Given the description of an element on the screen output the (x, y) to click on. 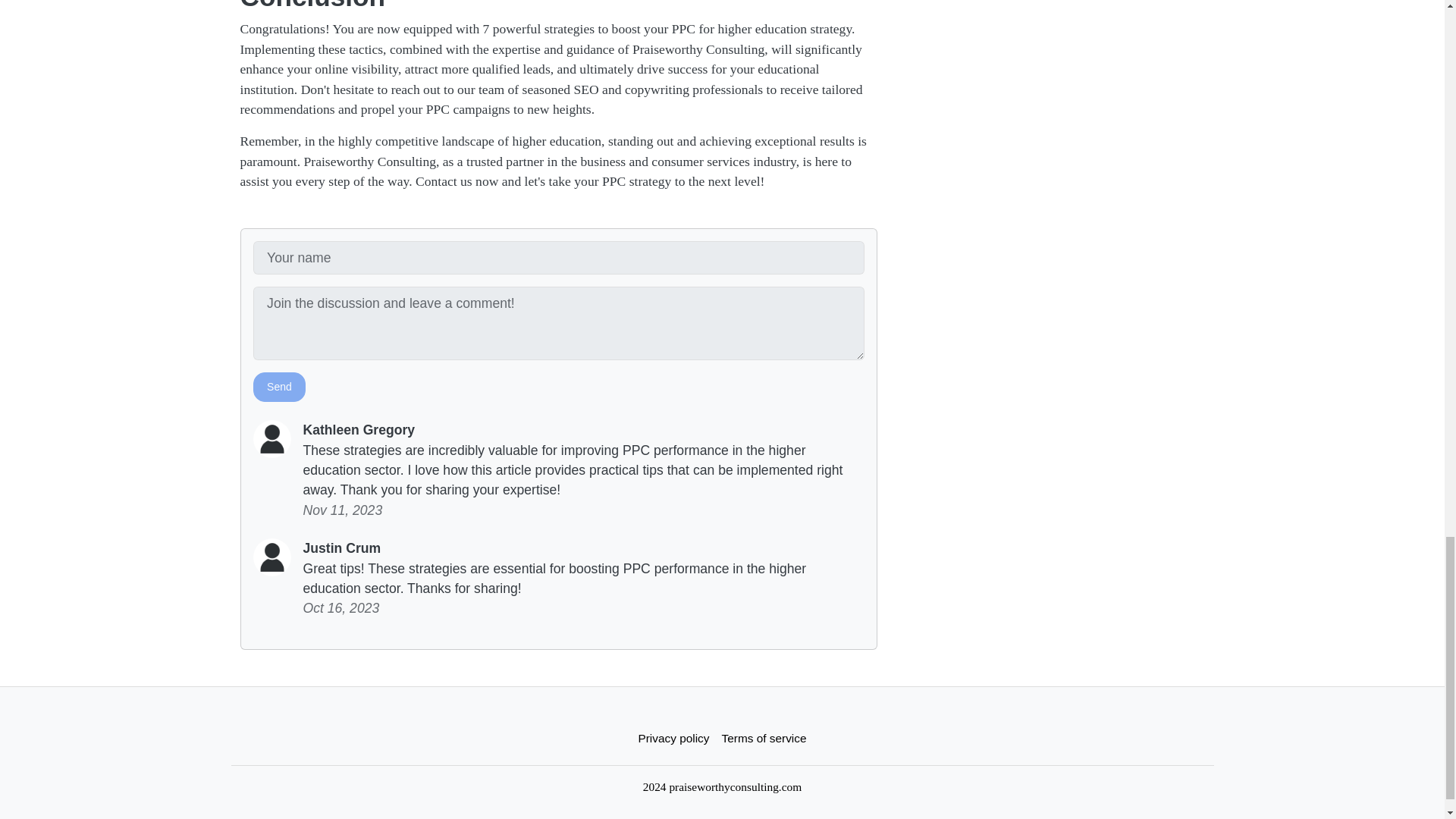
Terms of service (764, 737)
Send (279, 387)
Send (279, 387)
Privacy policy (672, 737)
